Given the description of an element on the screen output the (x, y) to click on. 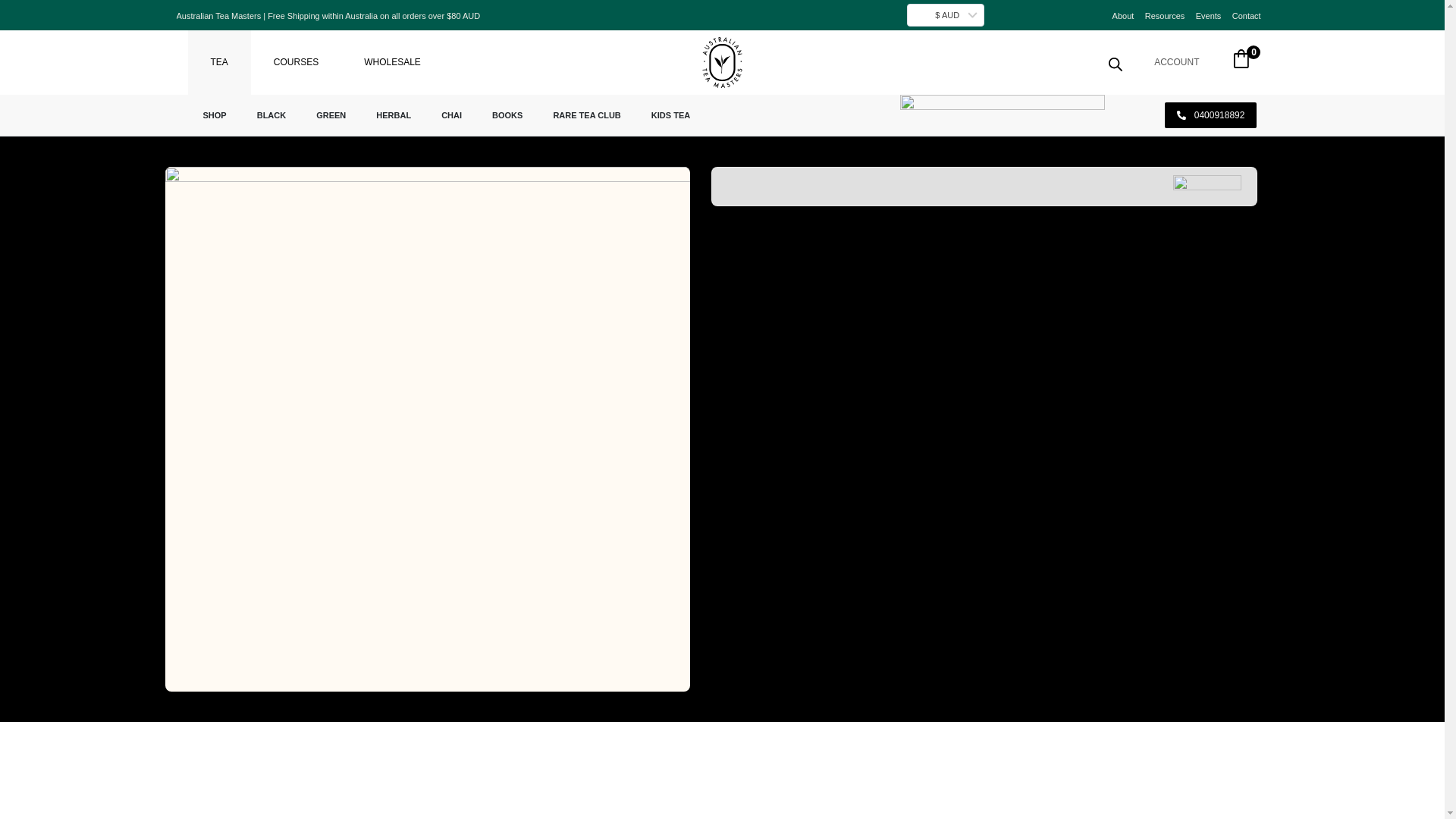
TEA (218, 62)
COURSES (295, 62)
HERBAL (393, 115)
ACCOUNT (1176, 61)
GREEN (331, 115)
Contact (1245, 16)
WHOLESALE (392, 62)
Events (1208, 16)
About (1123, 16)
KIDS TEA (670, 115)
BLACK (271, 115)
BOOKS (507, 115)
SHOP (214, 115)
CHAI (451, 115)
RARE TEA CLUB (585, 115)
